Given the description of an element on the screen output the (x, y) to click on. 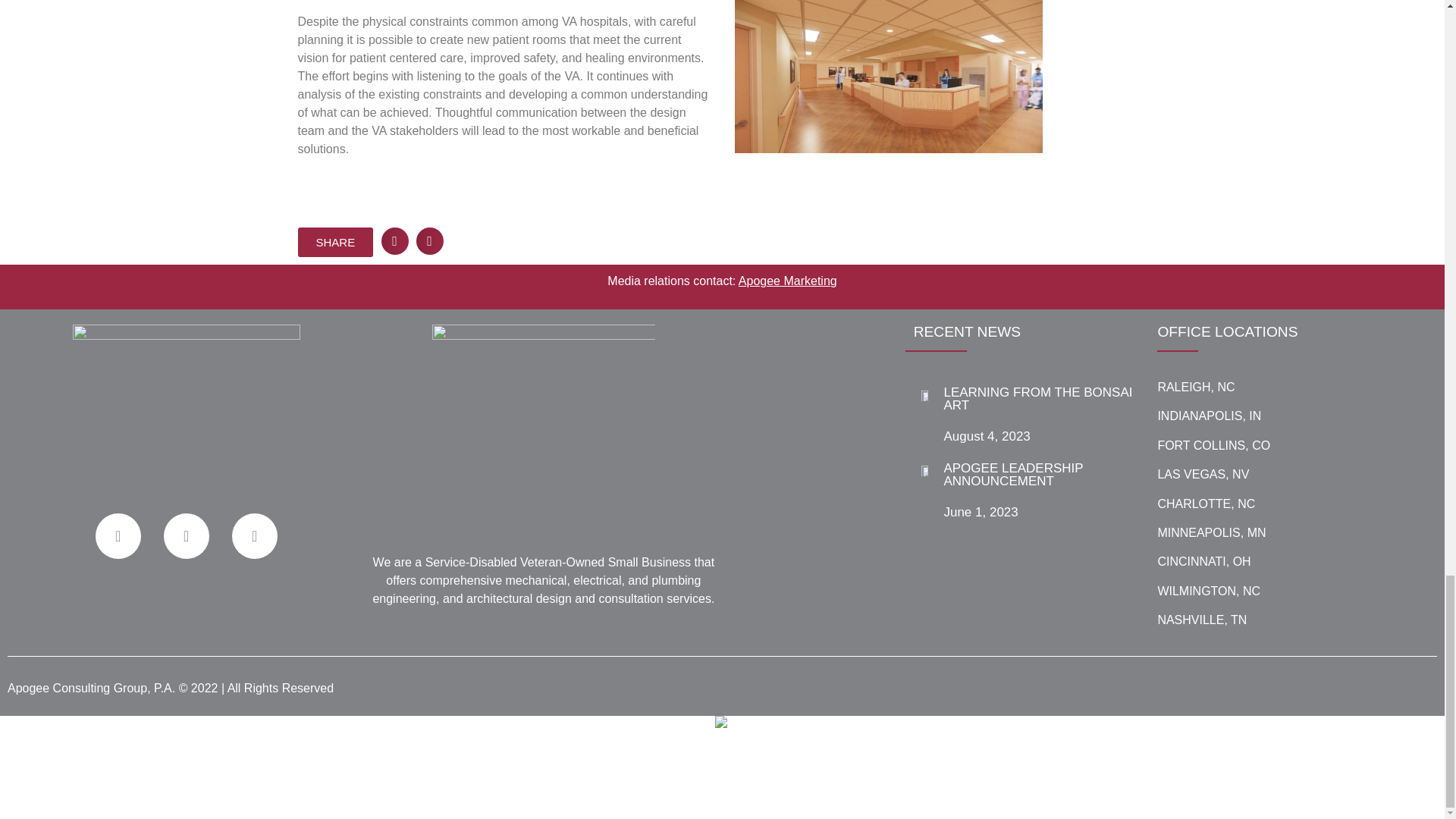
WordPress management provided by OptSus.com (721, 809)
